Given the description of an element on the screen output the (x, y) to click on. 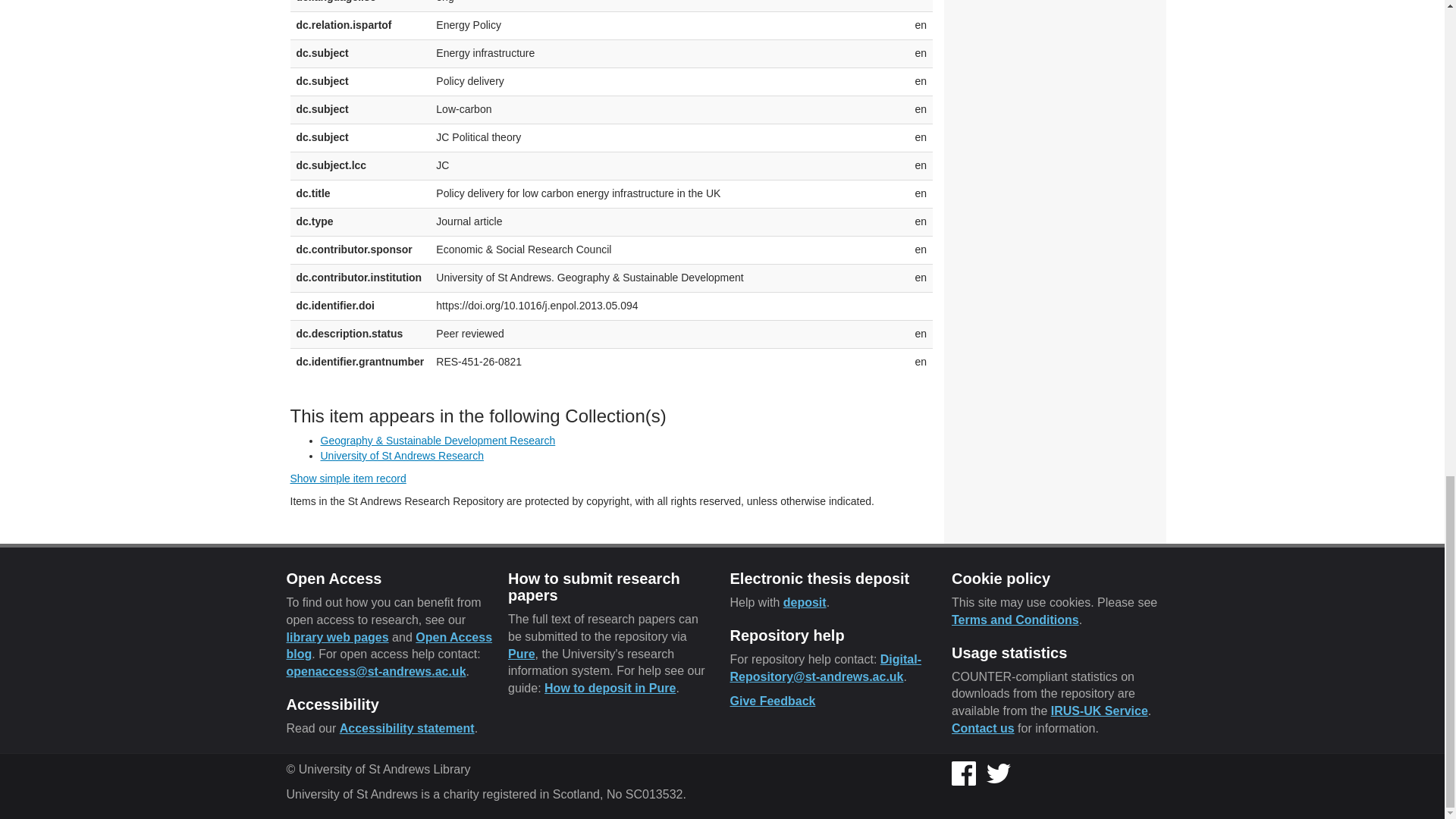
How to deposit in Pure (609, 687)
Accessibility statement (406, 727)
Email an enquiry about IRUS-UK statistics (983, 727)
IRUS-UK Service (1099, 710)
Terms and Conditions (1015, 619)
Email address for St Andrews Research Repository (825, 667)
Help with electronic theses deposit (805, 602)
Show simple item record (347, 478)
Open Access Blog (389, 645)
University of St Andrews Library Open Access web pages (337, 636)
Pure (521, 653)
University of St Andrews Research (401, 455)
